Given the description of an element on the screen output the (x, y) to click on. 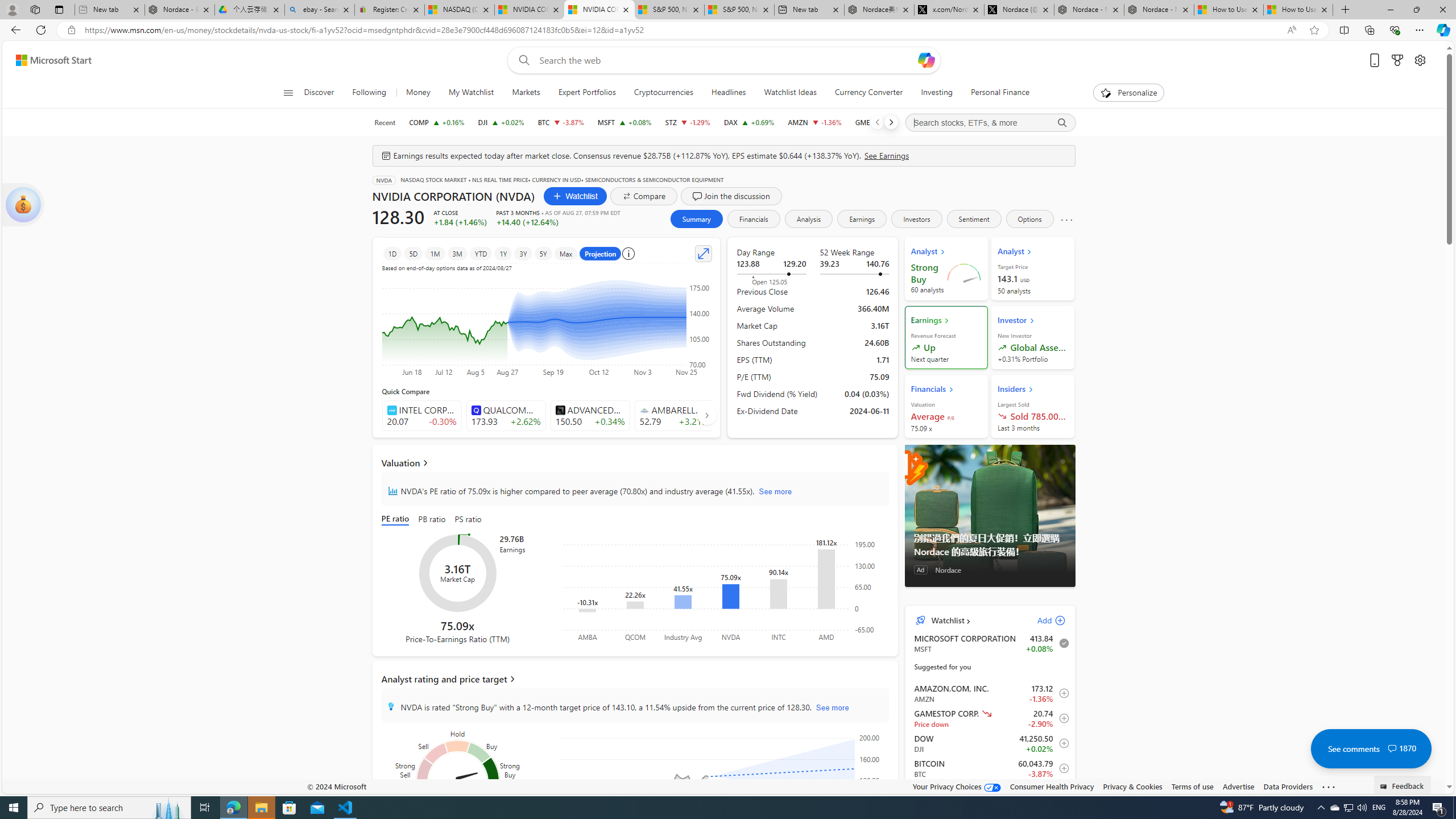
Cryptocurrencies (662, 92)
3M (456, 253)
Personalize (1128, 92)
My Watchlist (471, 92)
Your Privacy Choices (956, 785)
COMP NASDAQ increase 17,754.82 +29.06 +0.16% (436, 122)
Markets (526, 92)
Personal Finance (995, 92)
GME GAMESTOP CORP. decrease 20.74 -0.62 -2.90% item1 (989, 717)
